Given the description of an element on the screen output the (x, y) to click on. 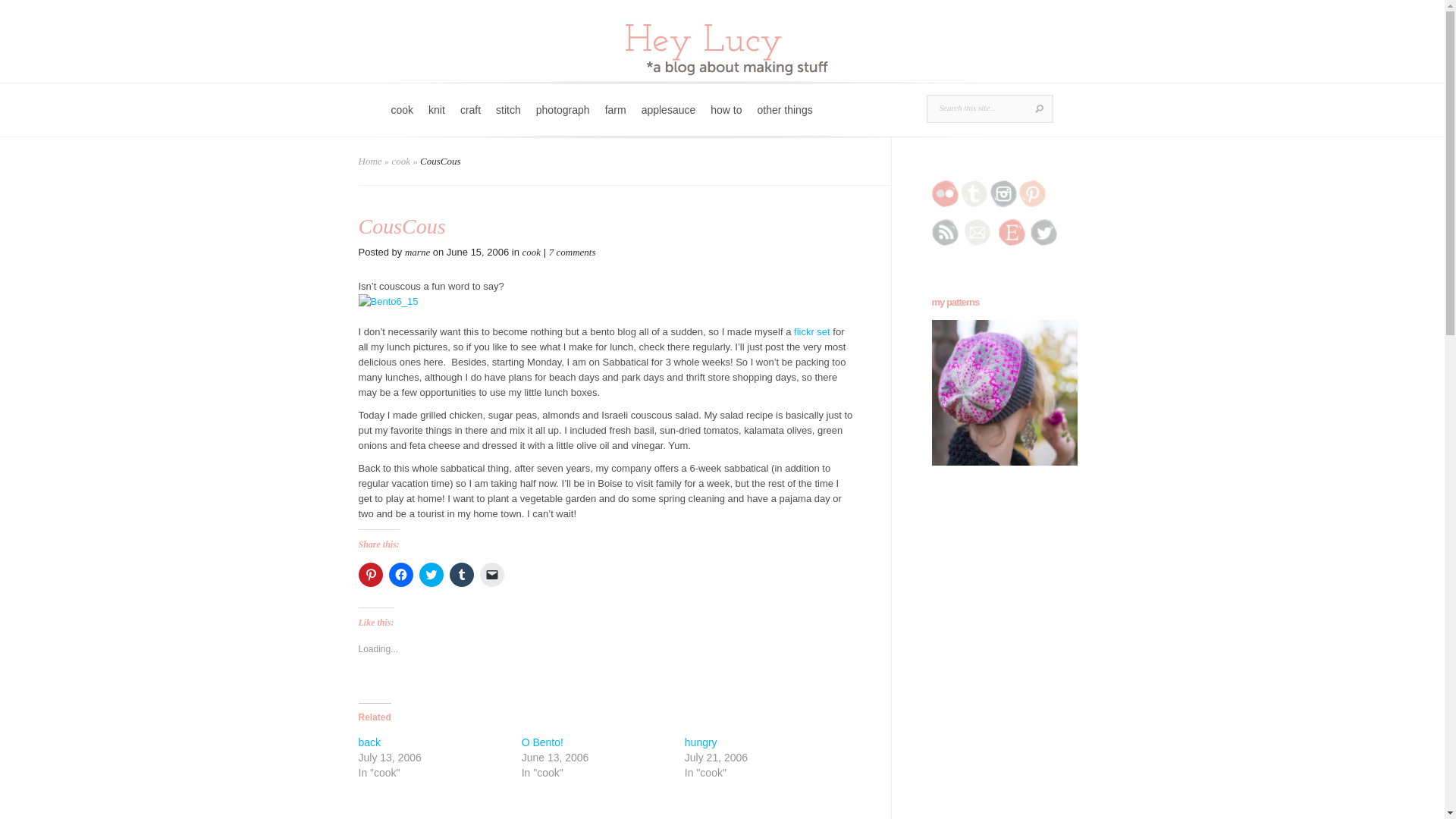
farm (614, 119)
cook (403, 119)
cook (400, 161)
hungry (700, 742)
Search this site... (979, 107)
O Bento! (542, 742)
hungry (700, 742)
cook (531, 251)
back (369, 742)
knit (436, 119)
